Given the description of an element on the screen output the (x, y) to click on. 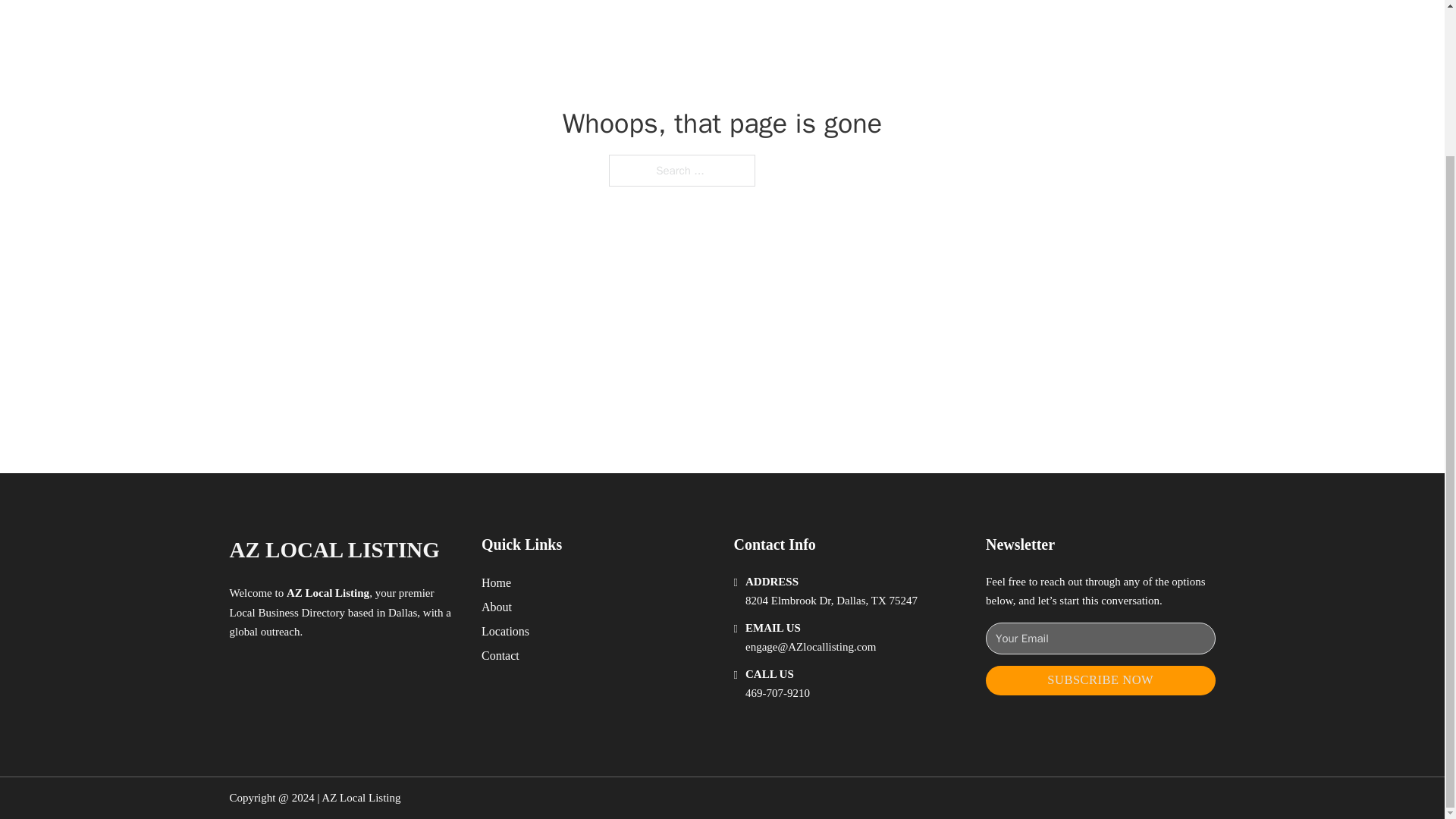
Contact (500, 655)
469-707-9210 (777, 693)
SUBSCRIBE NOW (1100, 680)
AZ LOCAL LISTING (333, 549)
Locations (505, 630)
About (496, 607)
Home (496, 582)
